Given the description of an element on the screen output the (x, y) to click on. 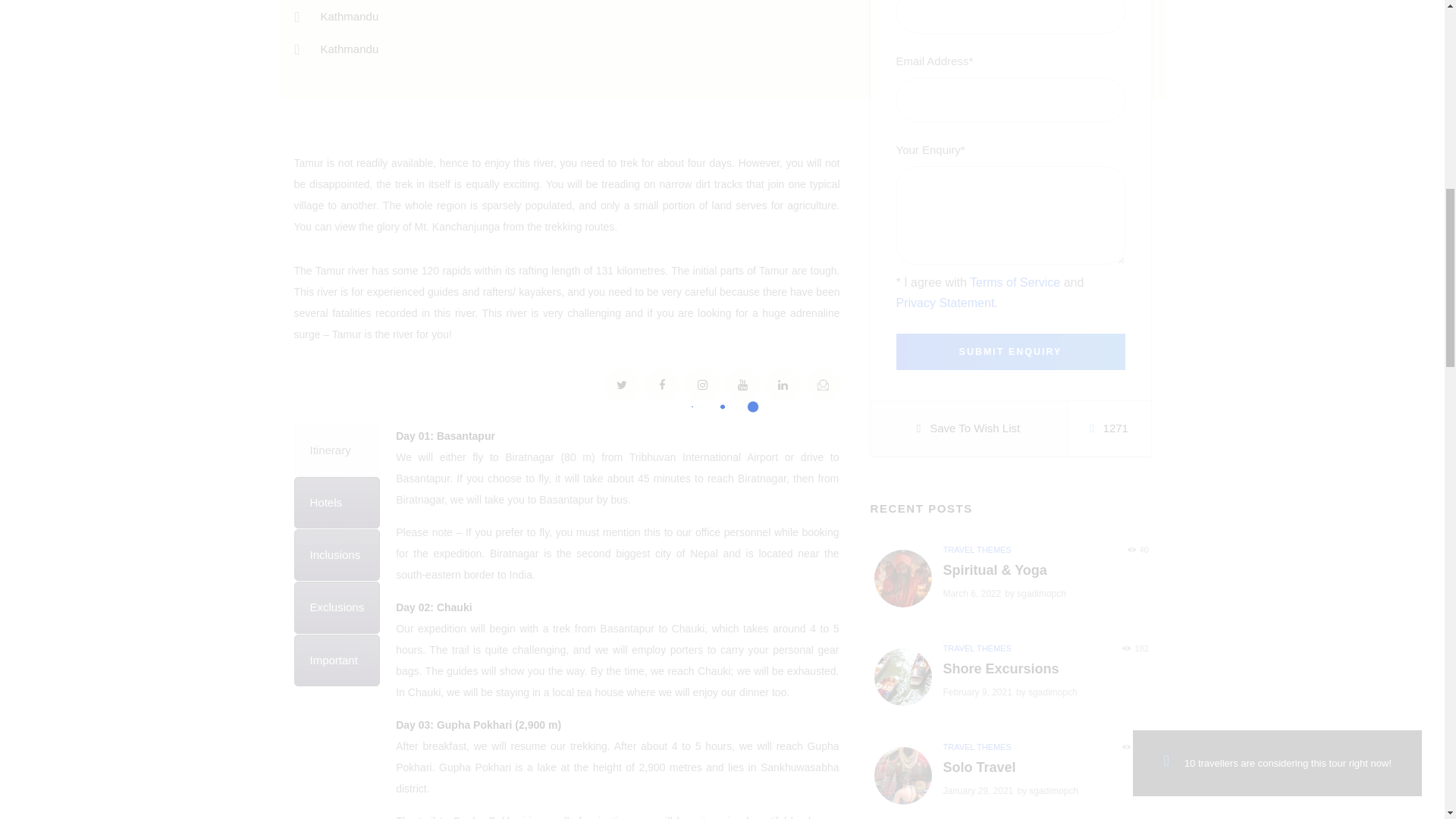
Shore Excursions 2 (903, 677)
View all posts in Travel Themes (977, 647)
Submit Enquiry (1010, 352)
on (900, 276)
Solo Travel 3 (903, 775)
View all posts in Travel Themes (977, 746)
View all posts in Travel Themes (977, 549)
